Given the description of an element on the screen output the (x, y) to click on. 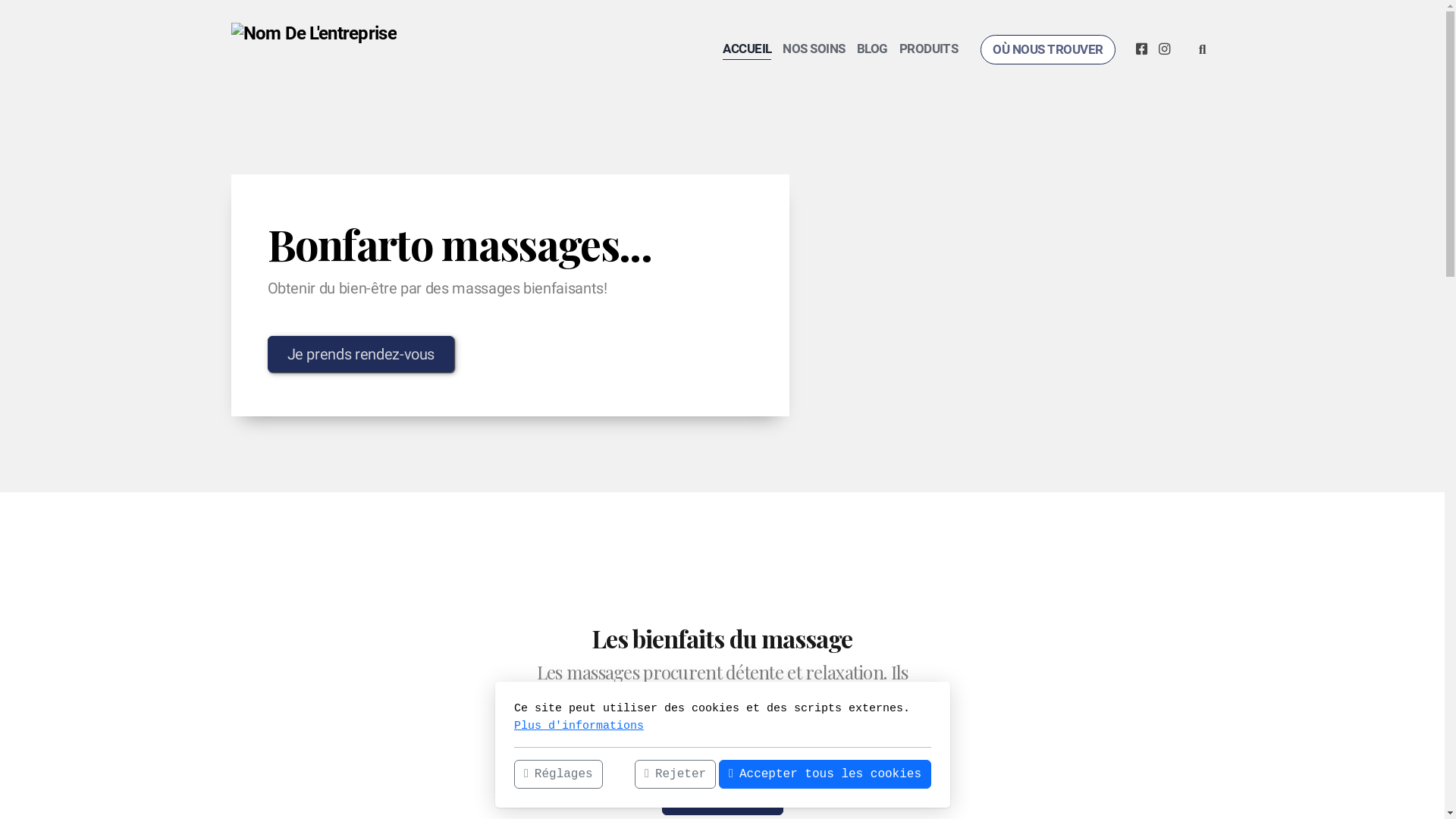
En savoir plus... Element type: text (721, 800)
ACCUEIL Element type: text (746, 48)
BLOG Element type: text (872, 48)
Rejeter Element type: text (674, 773)
Accepter tous les cookies Element type: text (824, 773)
Plus d'informations Element type: text (578, 724)
NOS SOINS Element type: text (813, 48)
PRODUITS Element type: text (928, 48)
Je prends rendez-vous Element type: text (360, 353)
